Given the description of an element on the screen output the (x, y) to click on. 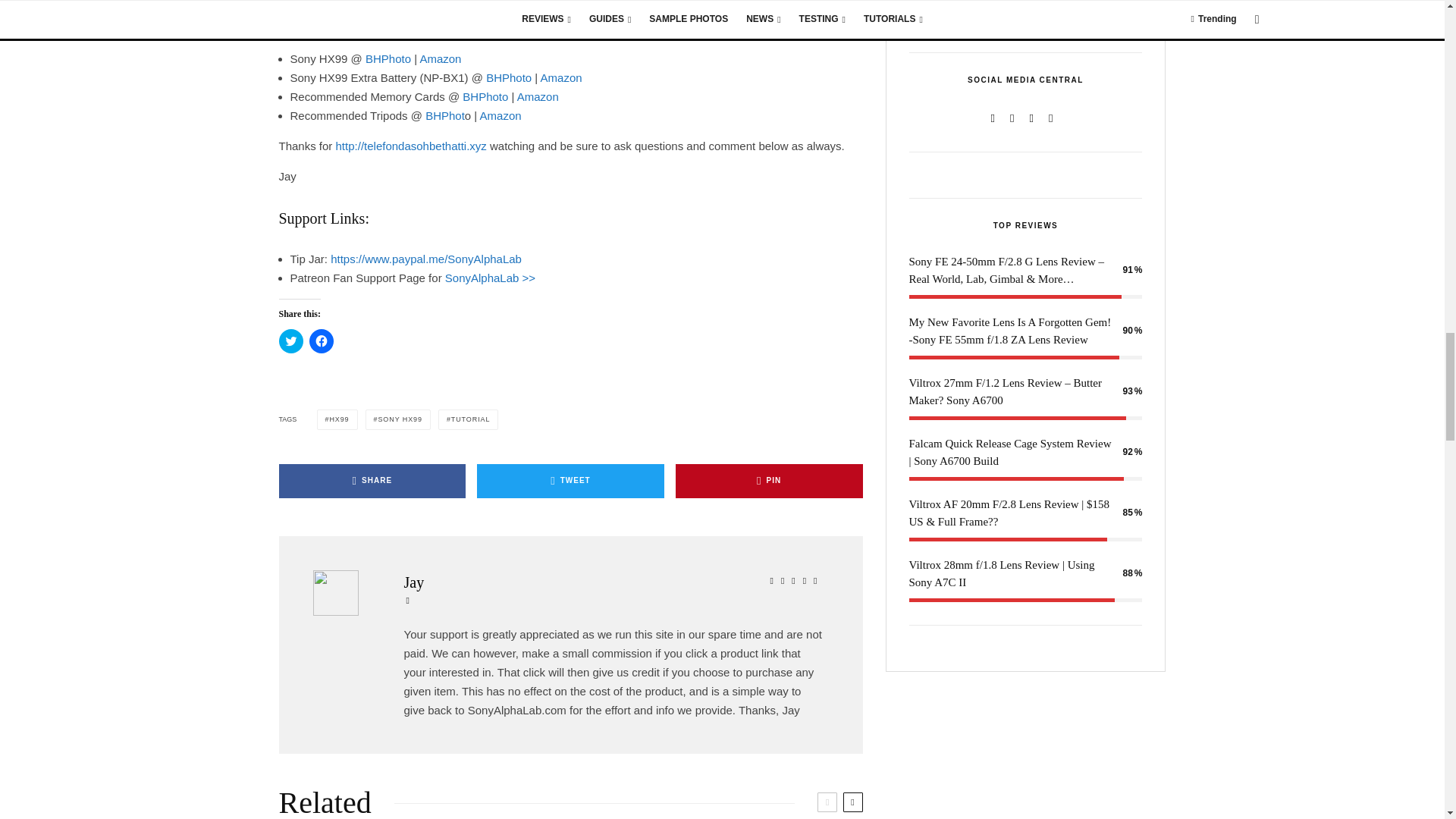
Click to share on Twitter (290, 340)
Click to share on Facebook (320, 340)
Play (928, 14)
Mute (1097, 14)
Fullscreen (1122, 14)
